Given the description of an element on the screen output the (x, y) to click on. 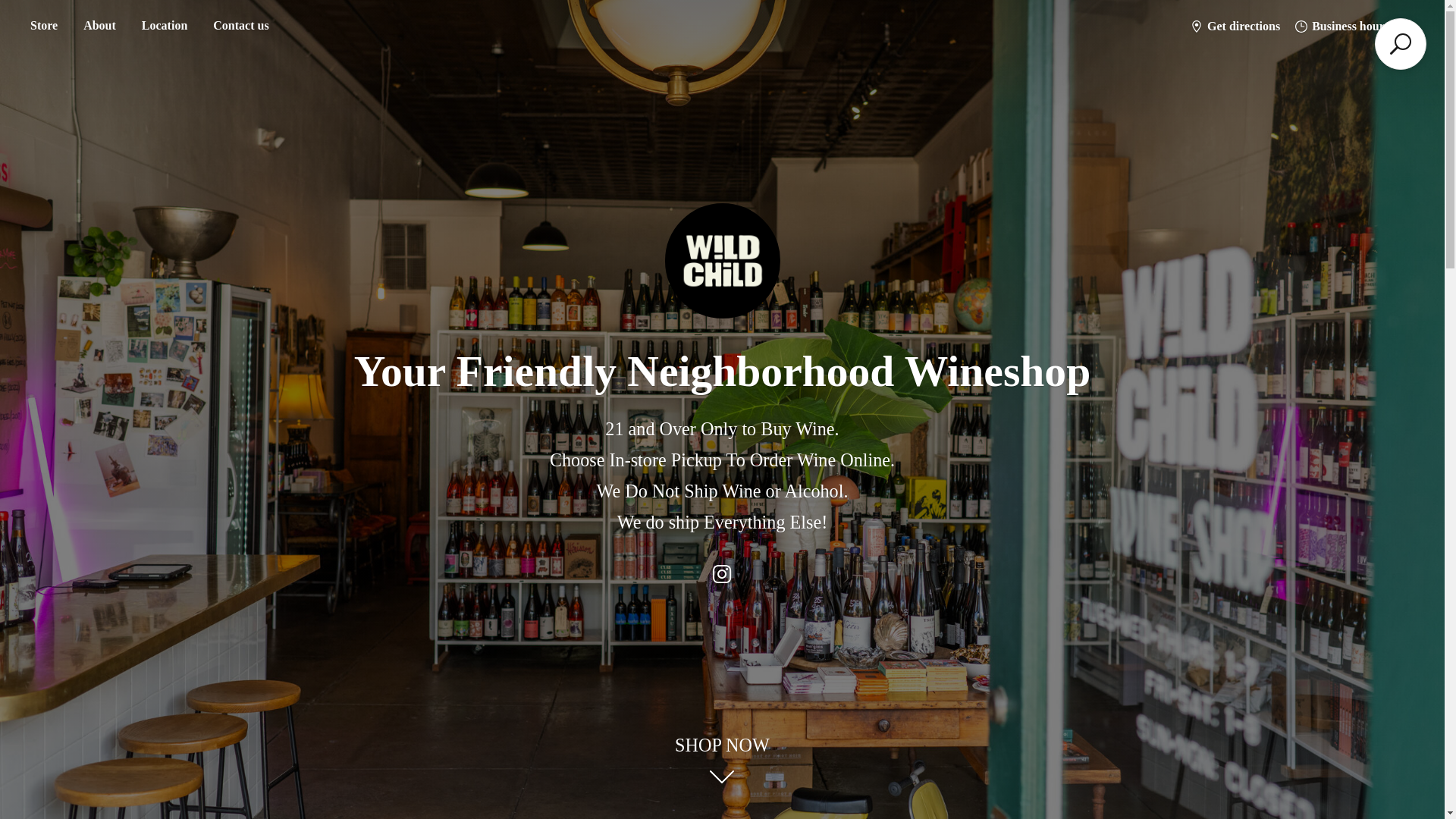
Business hours (1341, 26)
Store (43, 25)
About (99, 25)
Location (164, 25)
Get directions (1234, 26)
Contact us (240, 25)
